Given the description of an element on the screen output the (x, y) to click on. 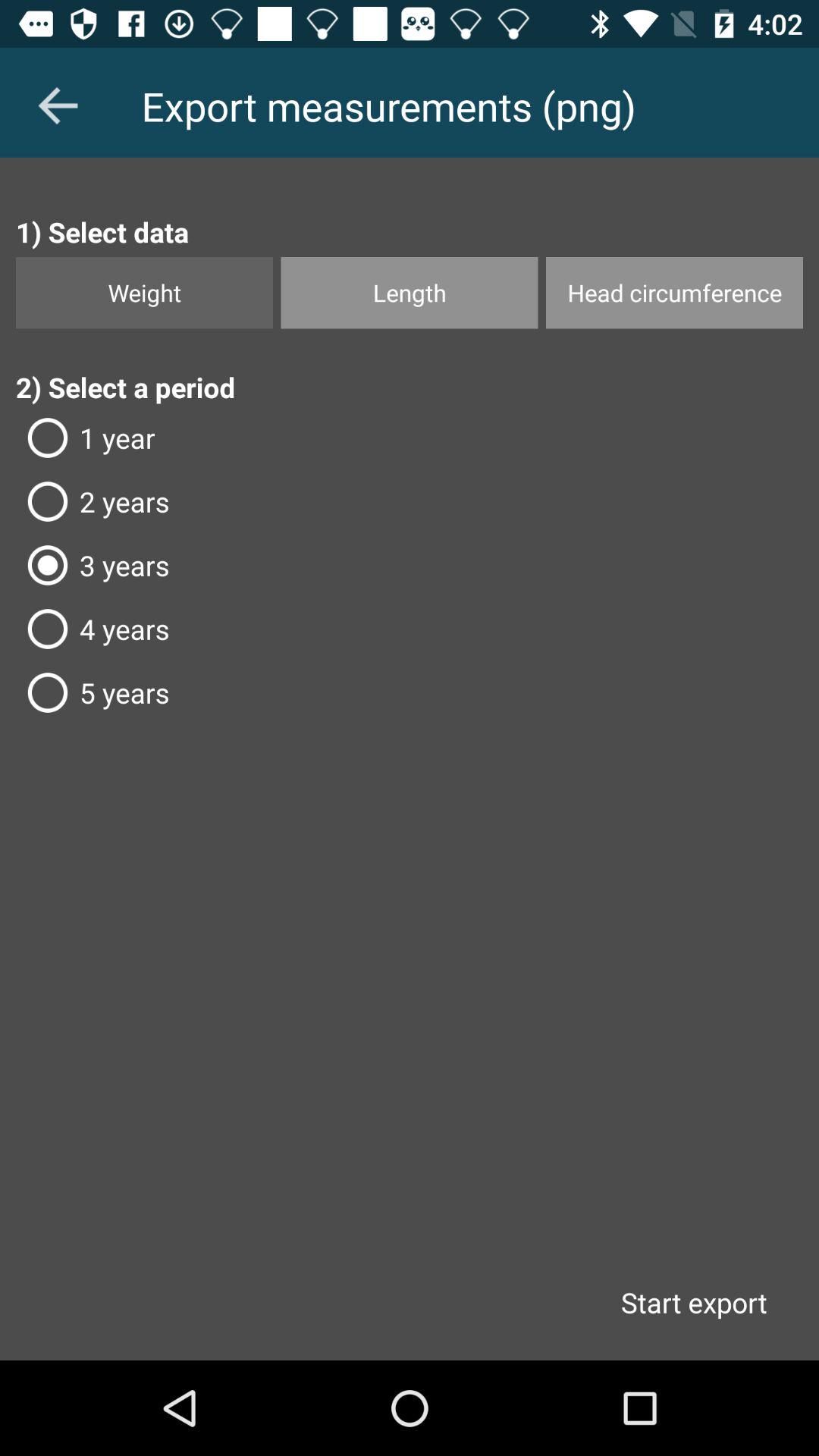
press the item below 2 years icon (409, 565)
